Given the description of an element on the screen output the (x, y) to click on. 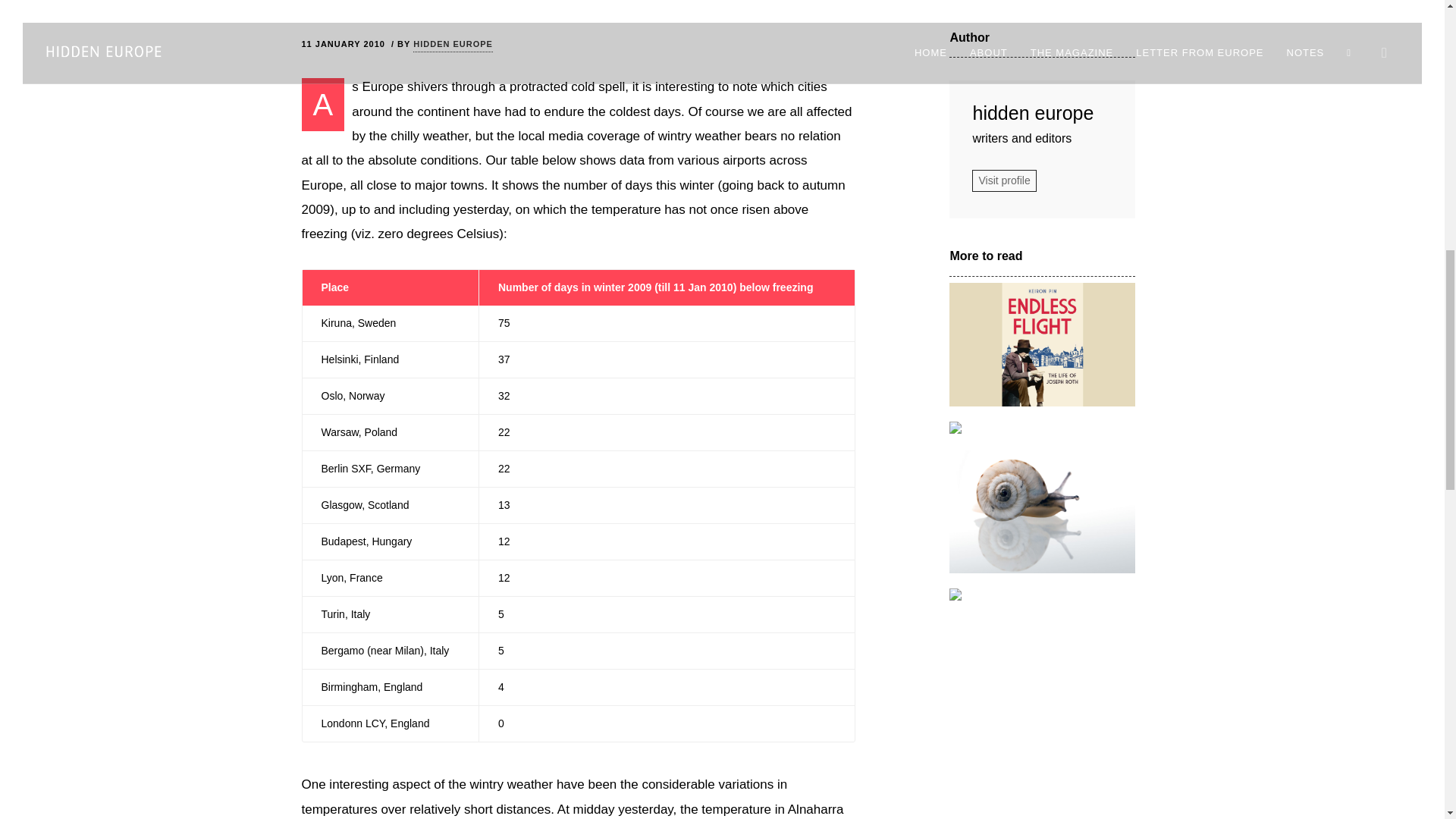
Visit profile (1003, 180)
hidden europe (1042, 113)
HIDDEN EUROPE (453, 44)
